Given the description of an element on the screen output the (x, y) to click on. 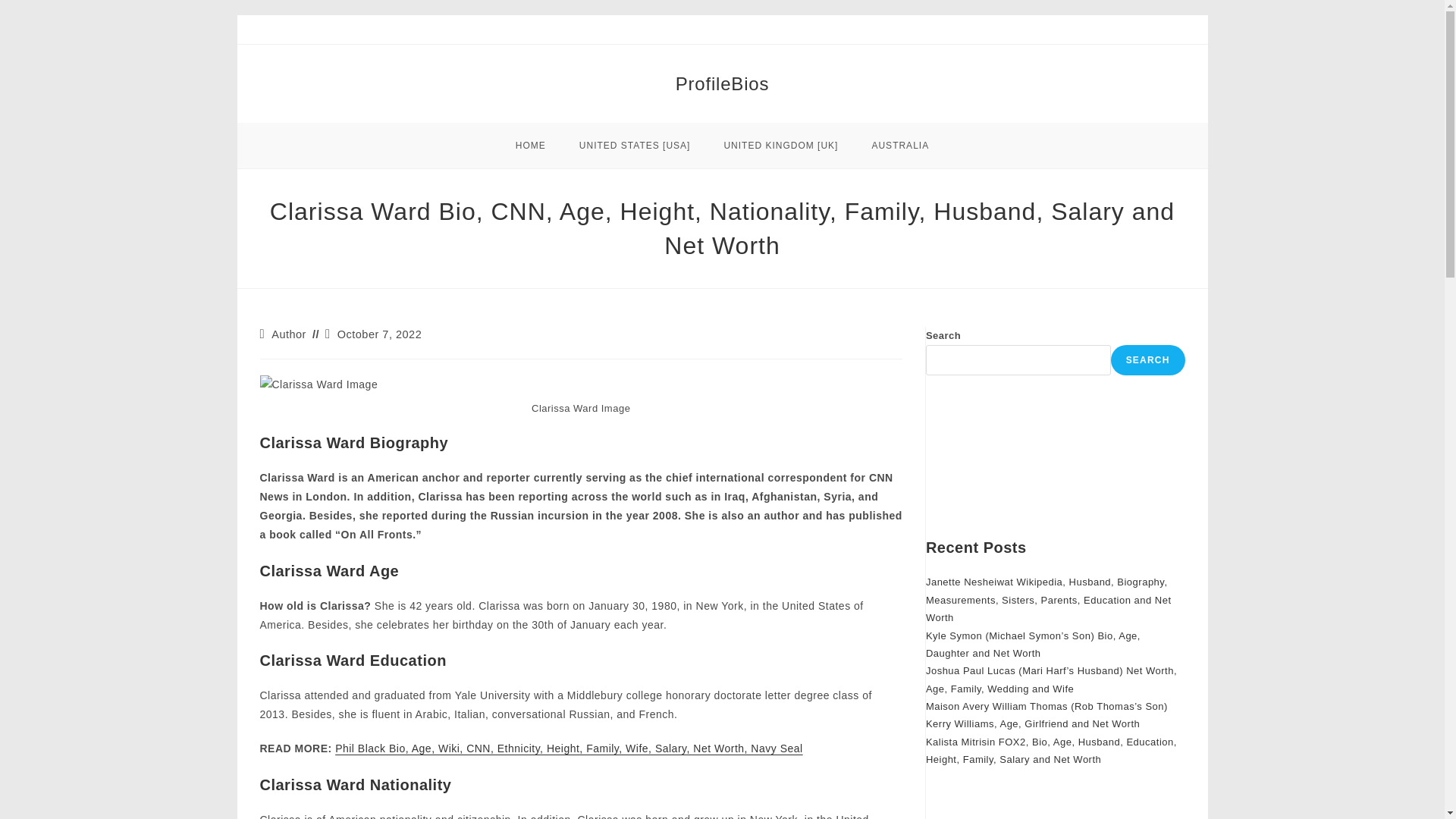
SEARCH (1147, 359)
HOME (530, 145)
Author (287, 334)
AUSTRALIA (899, 145)
ProfileBios (722, 83)
Posts by Author (287, 334)
